Given the description of an element on the screen output the (x, y) to click on. 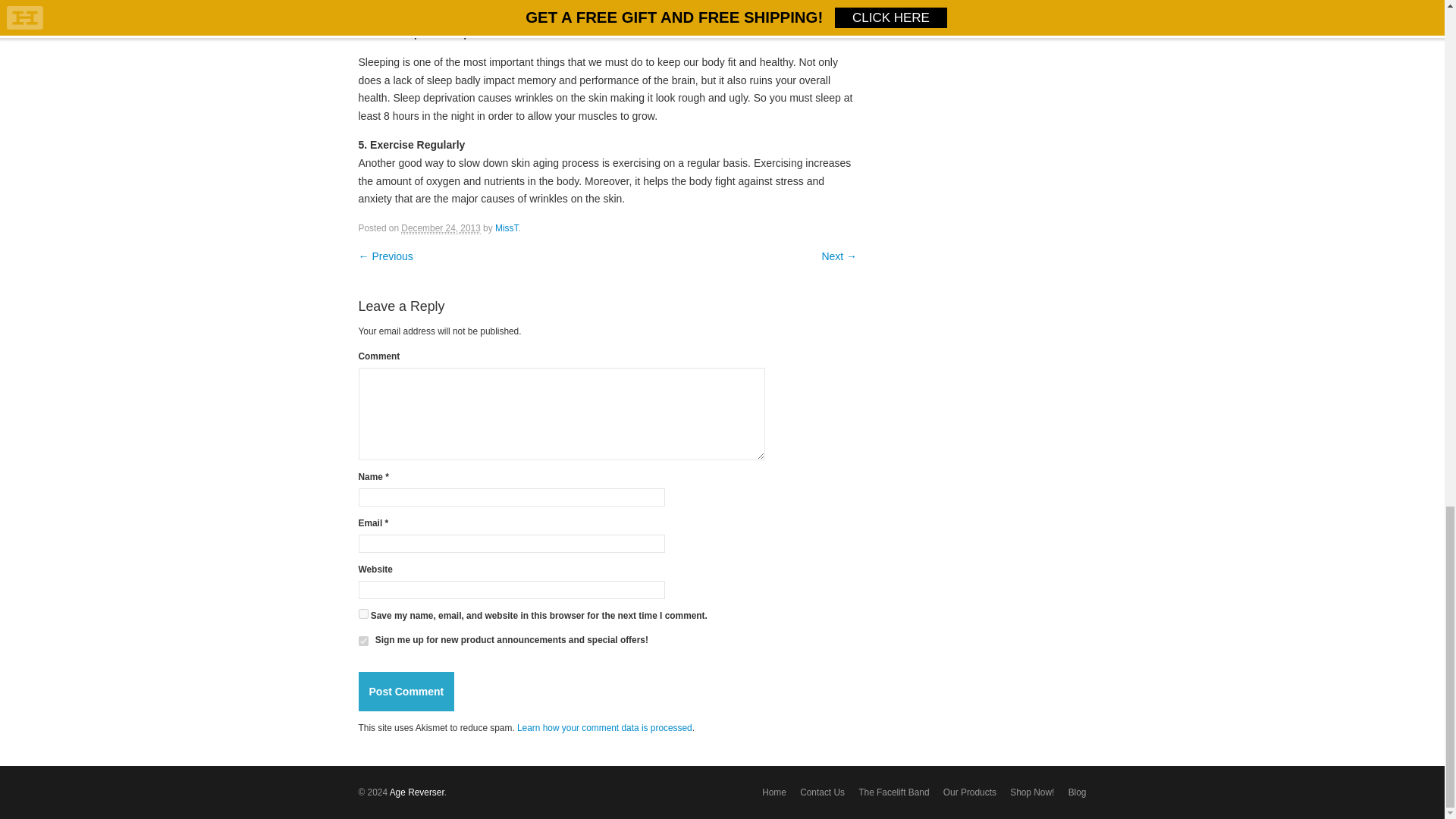
MissT (506, 227)
MissT (506, 227)
Post Comment (406, 691)
Learn how your comment data is processed (604, 727)
Age Reverser (417, 792)
Contact Us (821, 792)
Age Reverser (417, 792)
Post Comment (406, 691)
1 (363, 641)
yes (363, 614)
Home (773, 792)
Tuesday, December 24th, 2013, 1:18 am (440, 228)
